Given the description of an element on the screen output the (x, y) to click on. 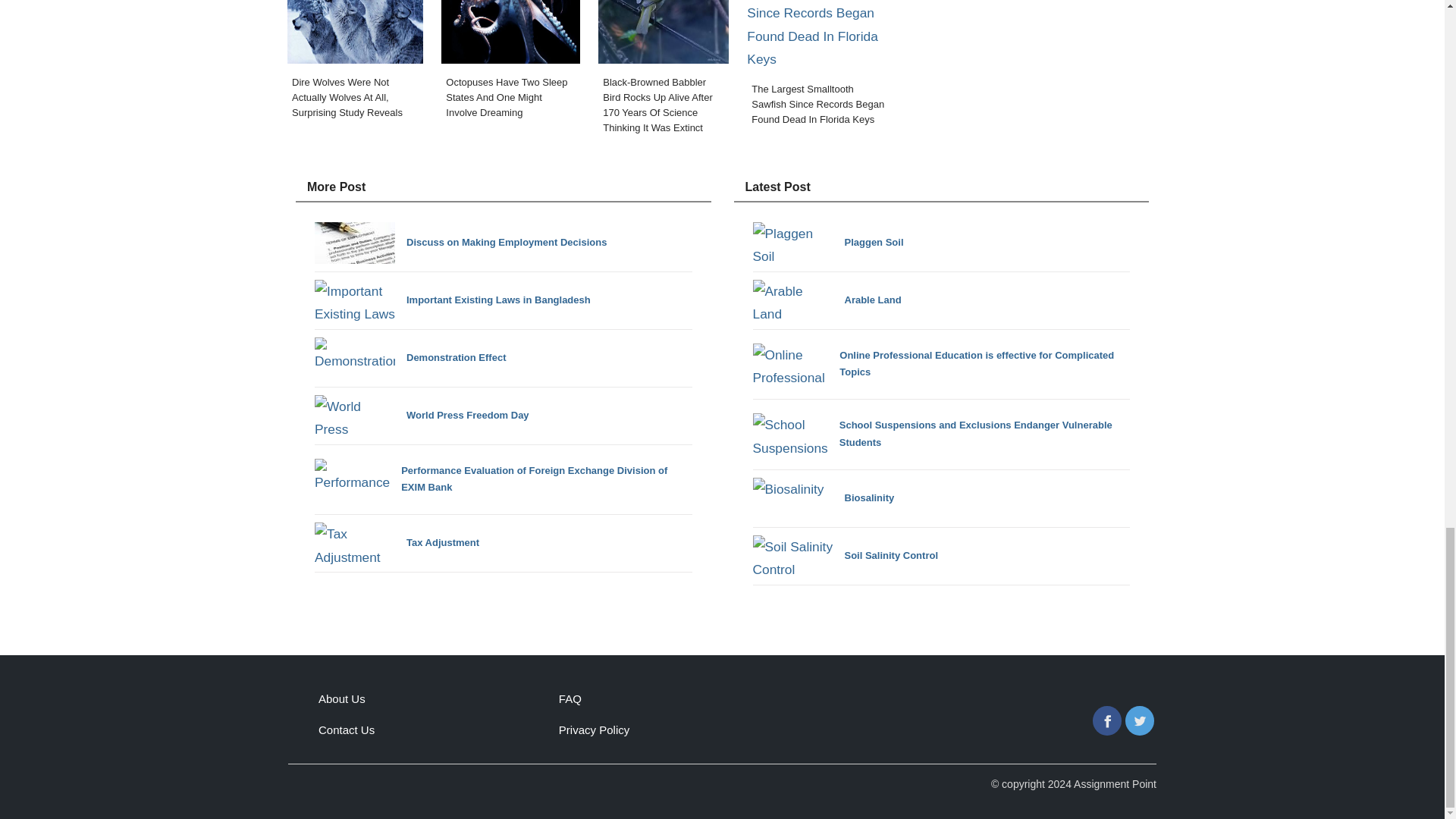
Demonstration Effect (409, 358)
Tax Adjustment (396, 543)
Biosalinity (822, 498)
Plaggen Soil (827, 242)
Discuss on Making Employment Decisions (460, 242)
Soil Salinity Control (844, 556)
World Press Freedom Day (421, 415)
Arable Land (826, 300)
